Given the description of an element on the screen output the (x, y) to click on. 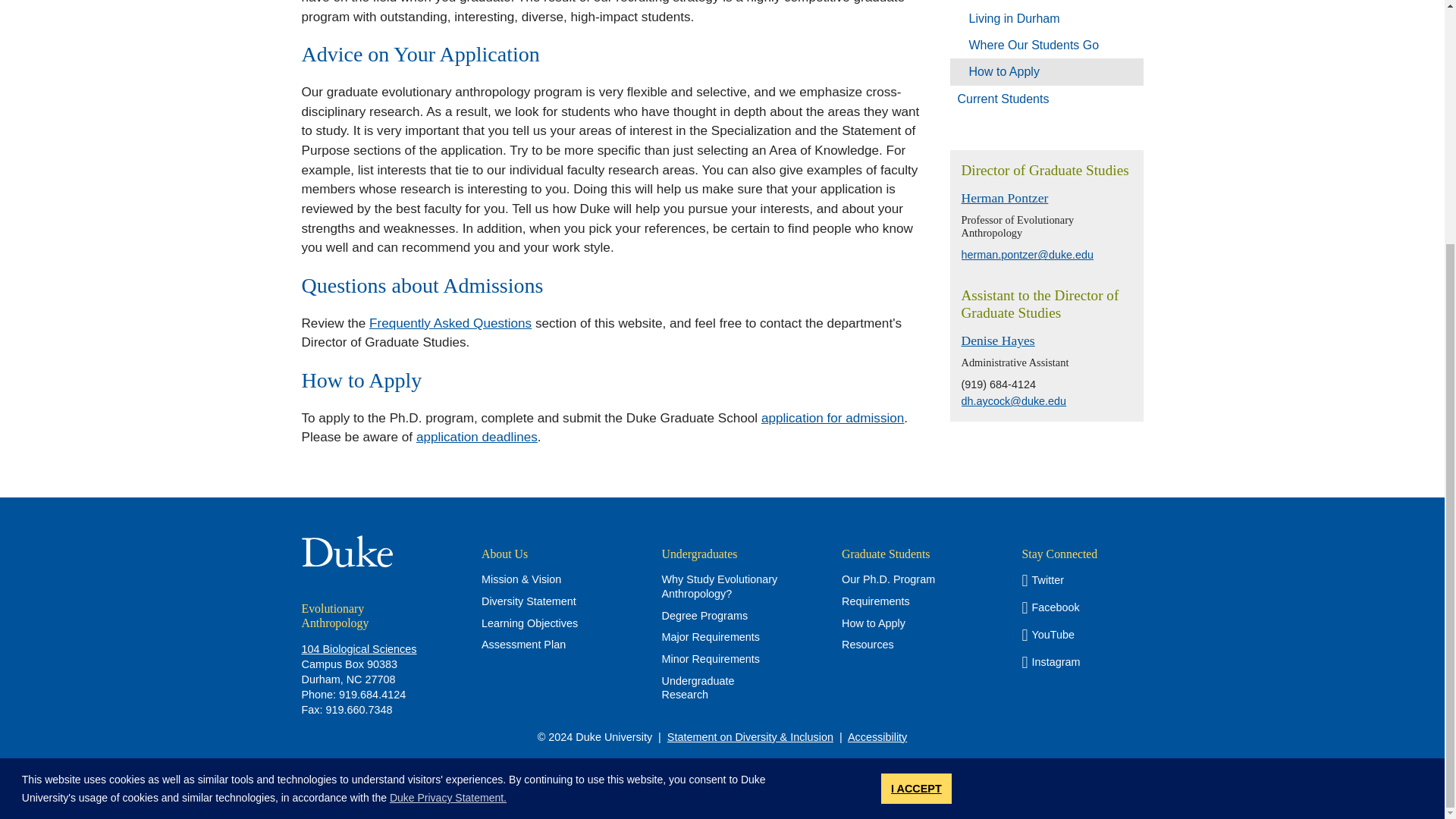
I ACCEPT (916, 449)
Log in with Shibboleth (722, 772)
Duke Privacy Statement. (448, 458)
